Given the description of an element on the screen output the (x, y) to click on. 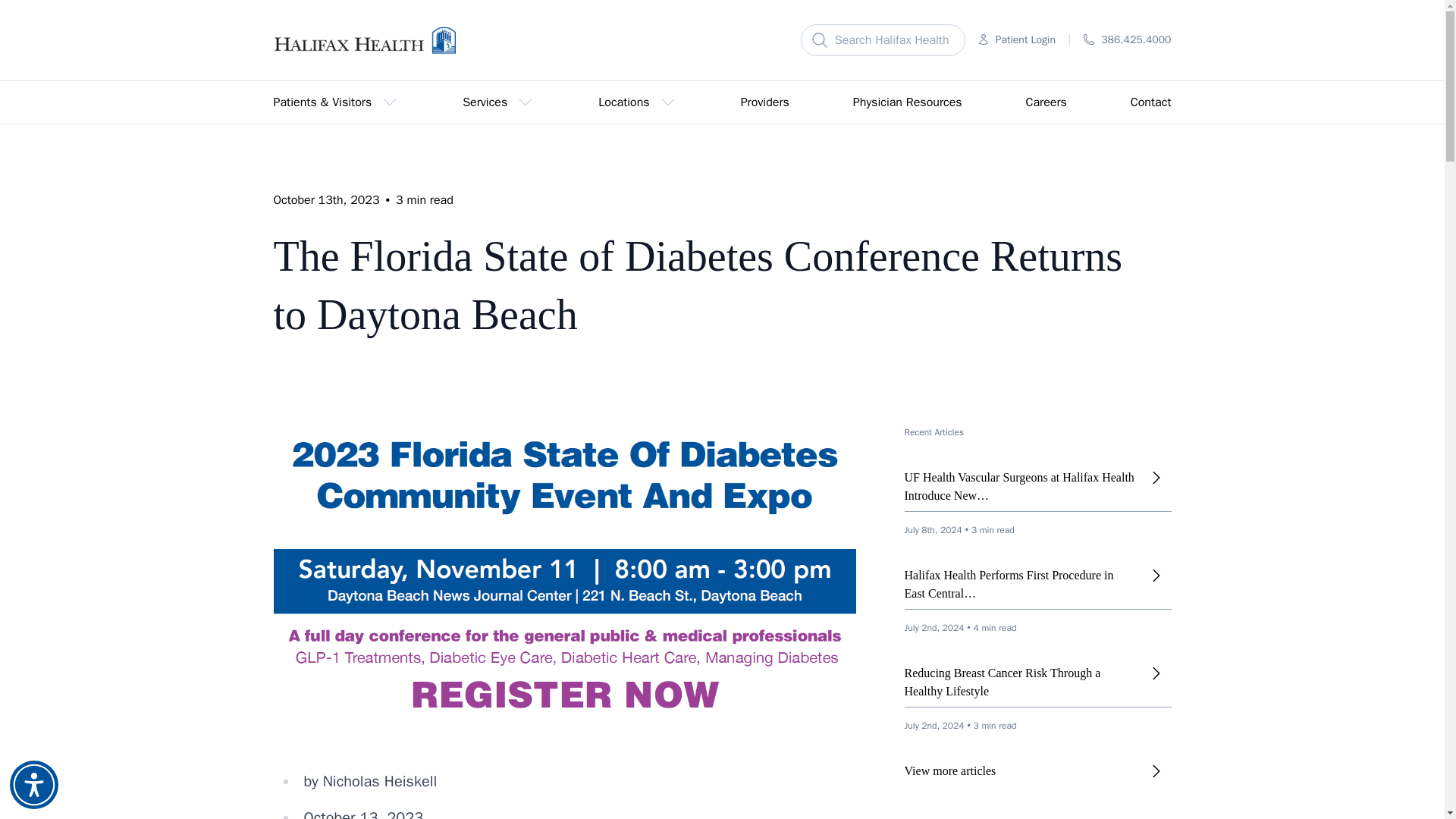
Contact (1150, 102)
Careers (1046, 102)
Physician Resources (907, 102)
Search Halifax Health (882, 40)
Accessibility Menu (34, 784)
Services (498, 102)
Locations (637, 102)
Patient Login (1016, 40)
386.425.4000 (1126, 40)
Providers (764, 102)
